Given the description of an element on the screen output the (x, y) to click on. 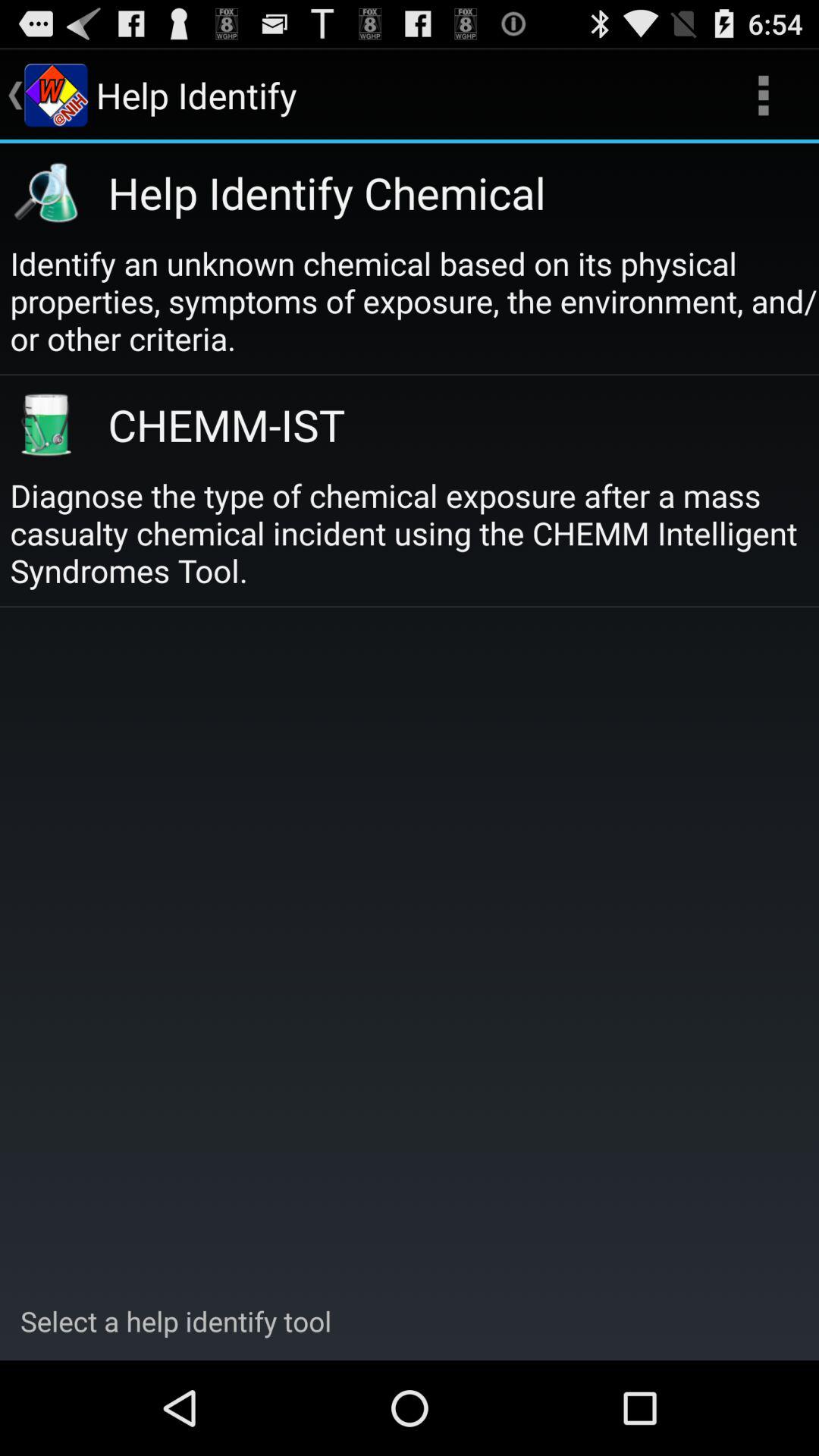
jump until the diagnose the type app (414, 532)
